Given the description of an element on the screen output the (x, y) to click on. 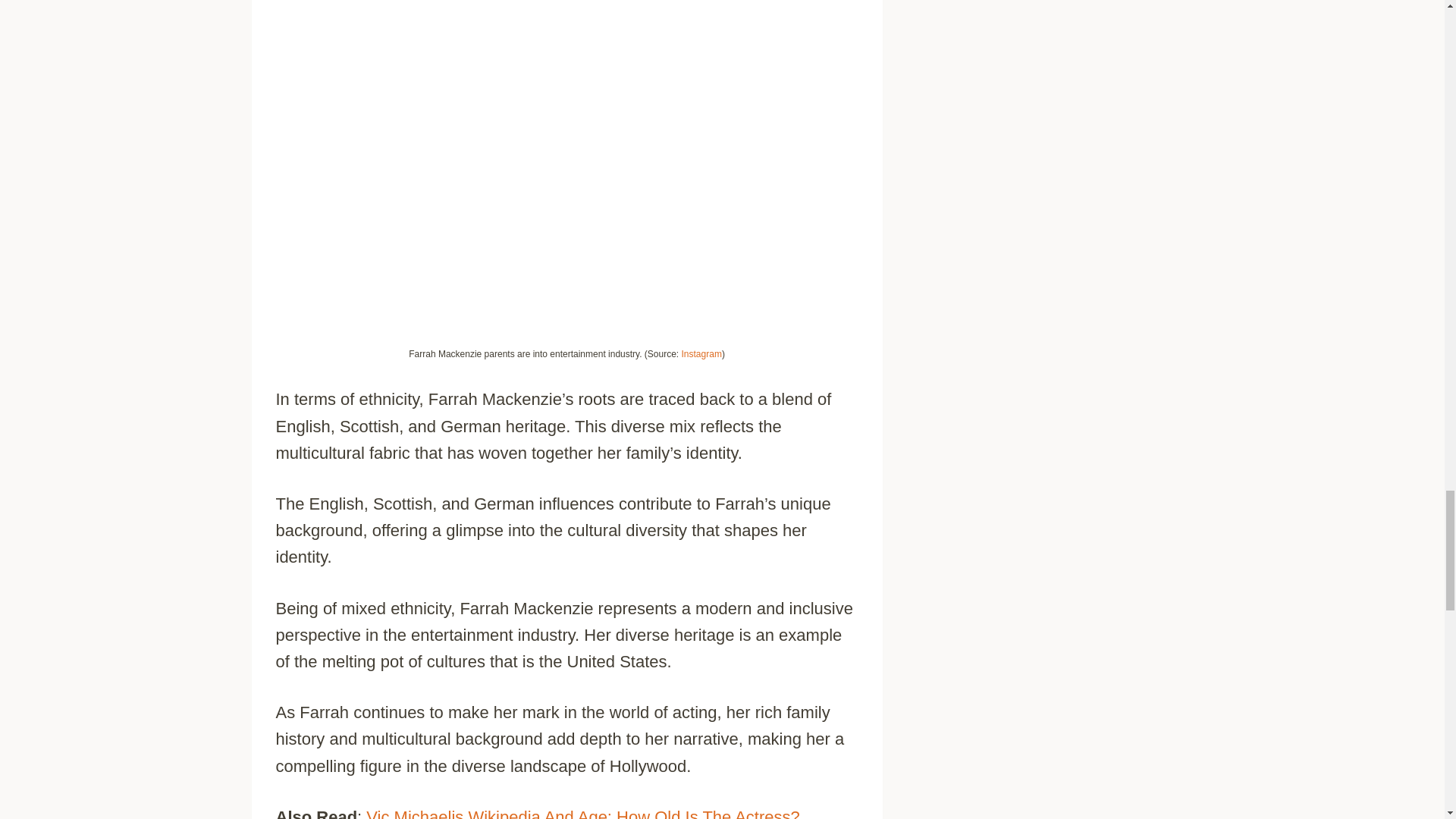
Instagram (701, 353)
Vic Michaelis Wikipedia And Age: How Old Is The Actress? (582, 813)
